Given the description of an element on the screen output the (x, y) to click on. 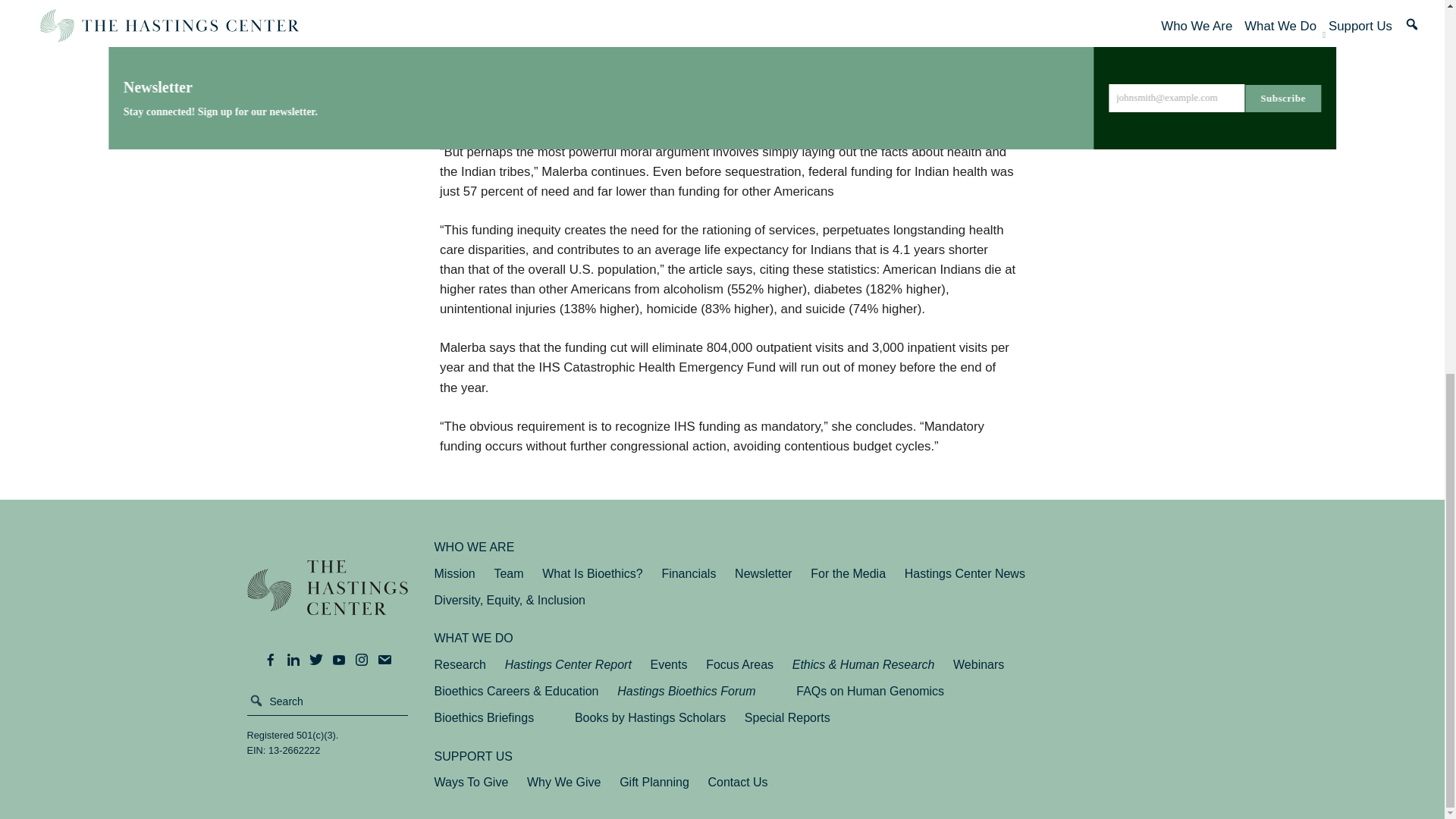
The Hastings Center (327, 598)
The Hastings Center (327, 598)
Search for: (327, 701)
